Given the description of an element on the screen output the (x, y) to click on. 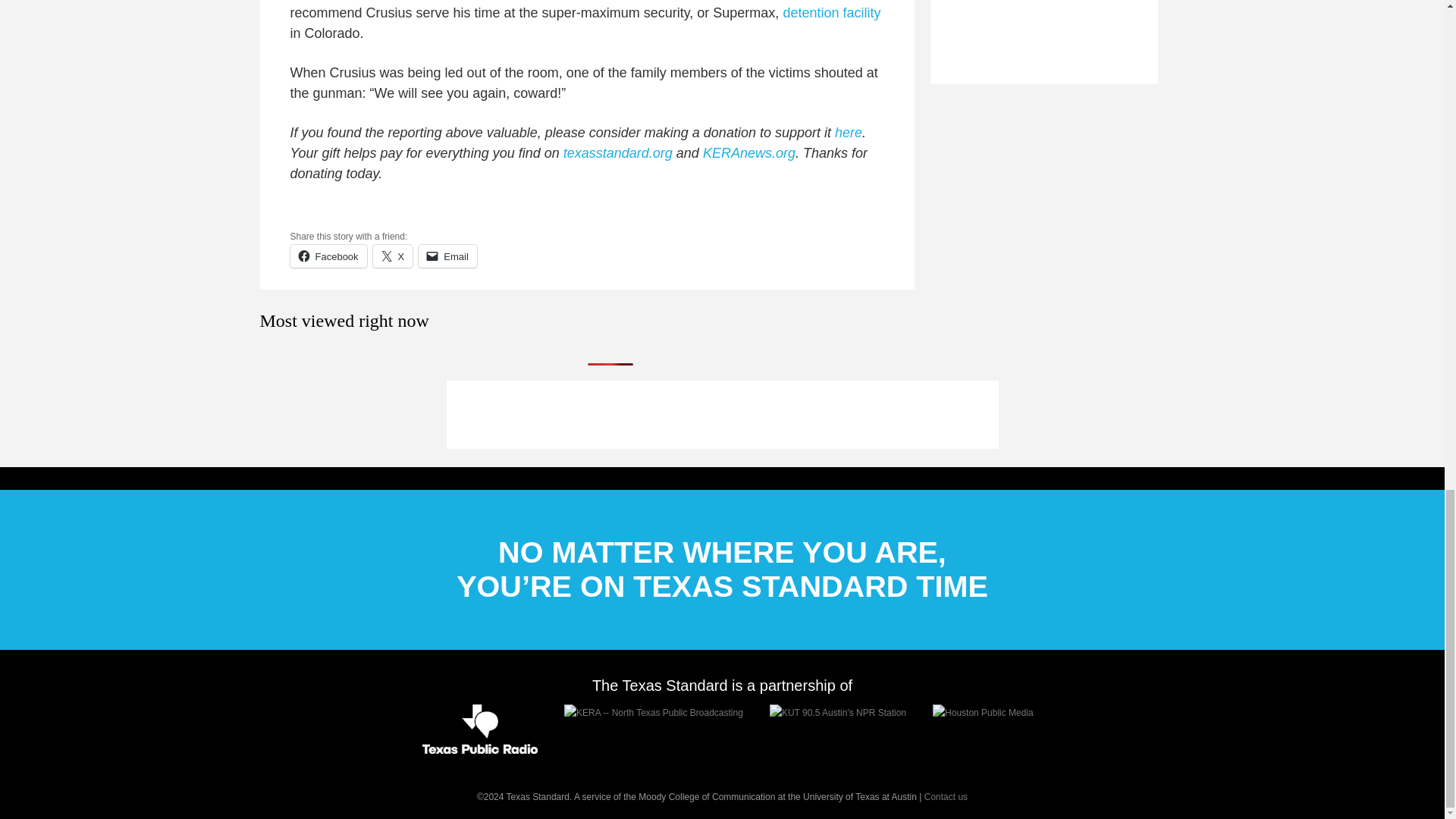
Click to email a link to a friend (448, 255)
Click to share on X (392, 255)
Click to share on Facebook (327, 255)
